Given the description of an element on the screen output the (x, y) to click on. 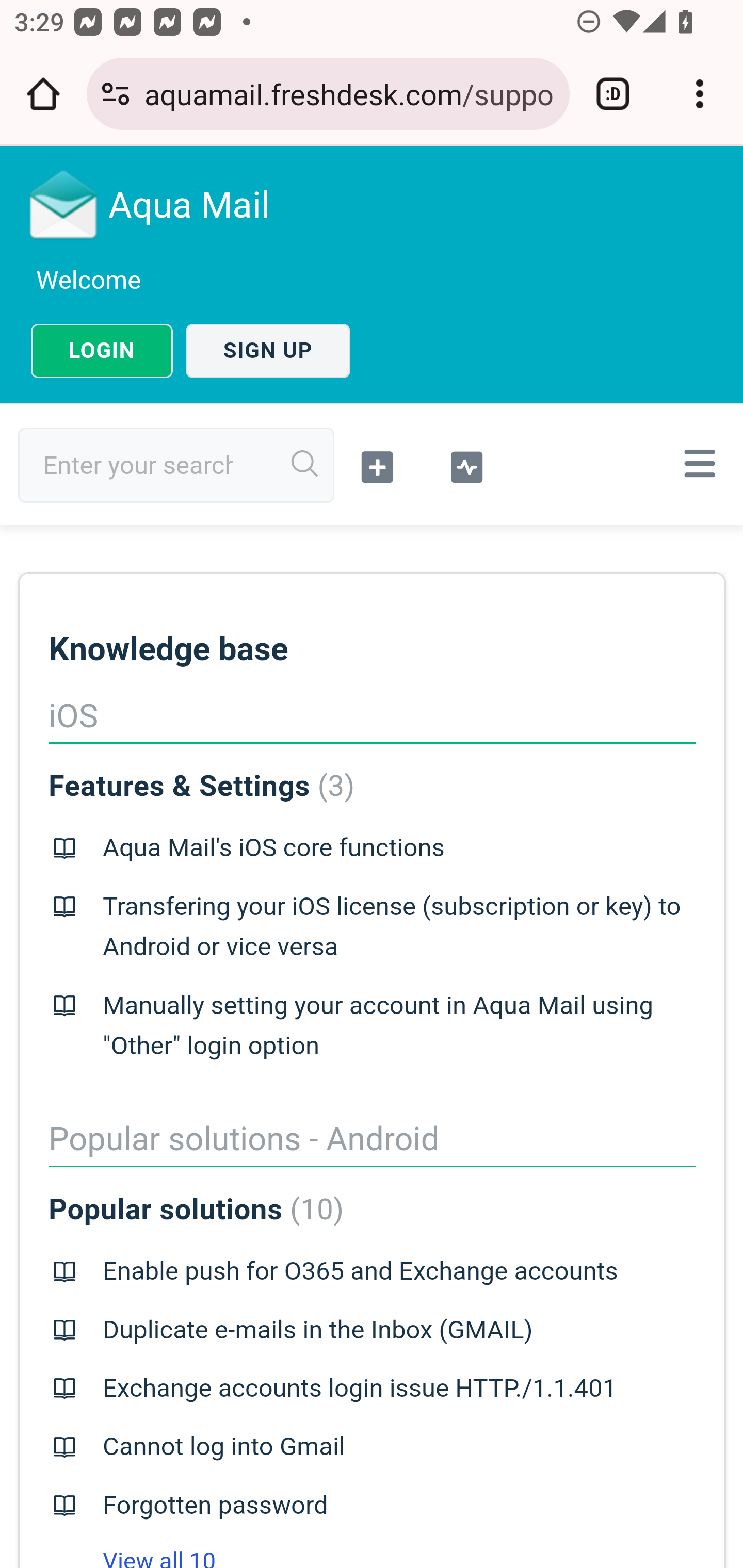
Open the home page (43, 93)
Connection is secure (115, 93)
Switch or close tabs (612, 93)
Customize and control Google Chrome (699, 93)
aquamail.freshdesk.com/support/home (349, 92)
Logo (63, 204)
LOGIN (101, 351)
SIGN UP (268, 351)
 (695, 463)
Search (305, 464)
 (377, 464)
 (466, 464)
iOS (72, 716)
Features & Settings (3) Features & Settings  ( 3 ) (200, 786)
Aqua Mail's iOS core functions (273, 847)
Popular solutions - Android (243, 1138)
Popular solutions (10) Popular solutions  ( 10 ) (195, 1209)
Enable push for O365 and Exchange accounts (359, 1271)
Duplicate e-mails in the Inbox (GMAIL) (317, 1329)
Exchange accounts login issue HTTP./1.1.401 (359, 1388)
Cannot log into Gmail (223, 1446)
Forgotten password (214, 1504)
View all 10 (131, 1557)
